Given the description of an element on the screen output the (x, y) to click on. 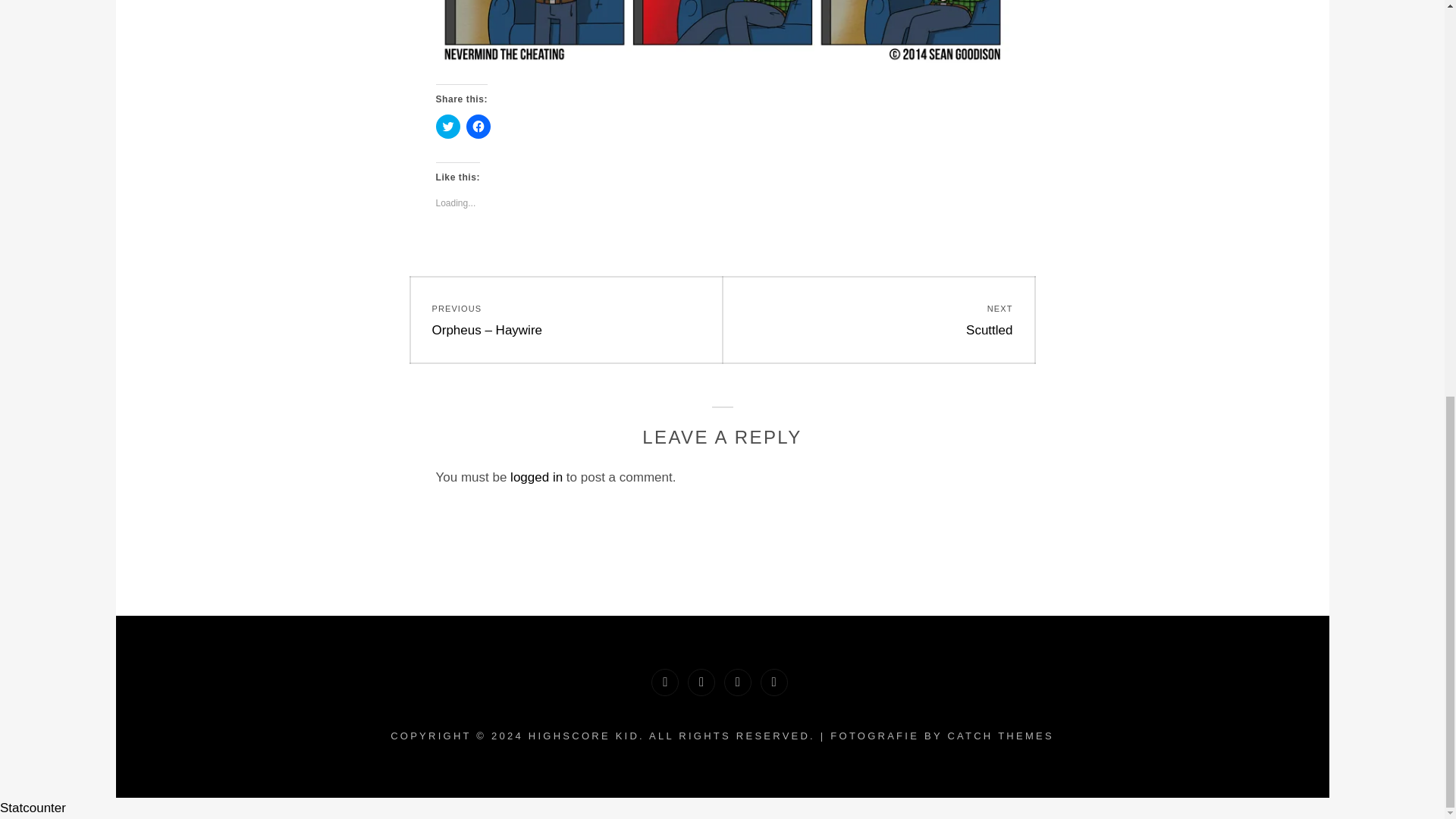
Twitter (878, 319)
Patreon (737, 682)
Click to share on Twitter (773, 682)
logged in (447, 126)
HIGHSCORE KID (536, 477)
Tumblr (583, 736)
Statcounter (700, 682)
CATCH THEMES (32, 807)
Facebook (999, 736)
